Given the description of an element on the screen output the (x, y) to click on. 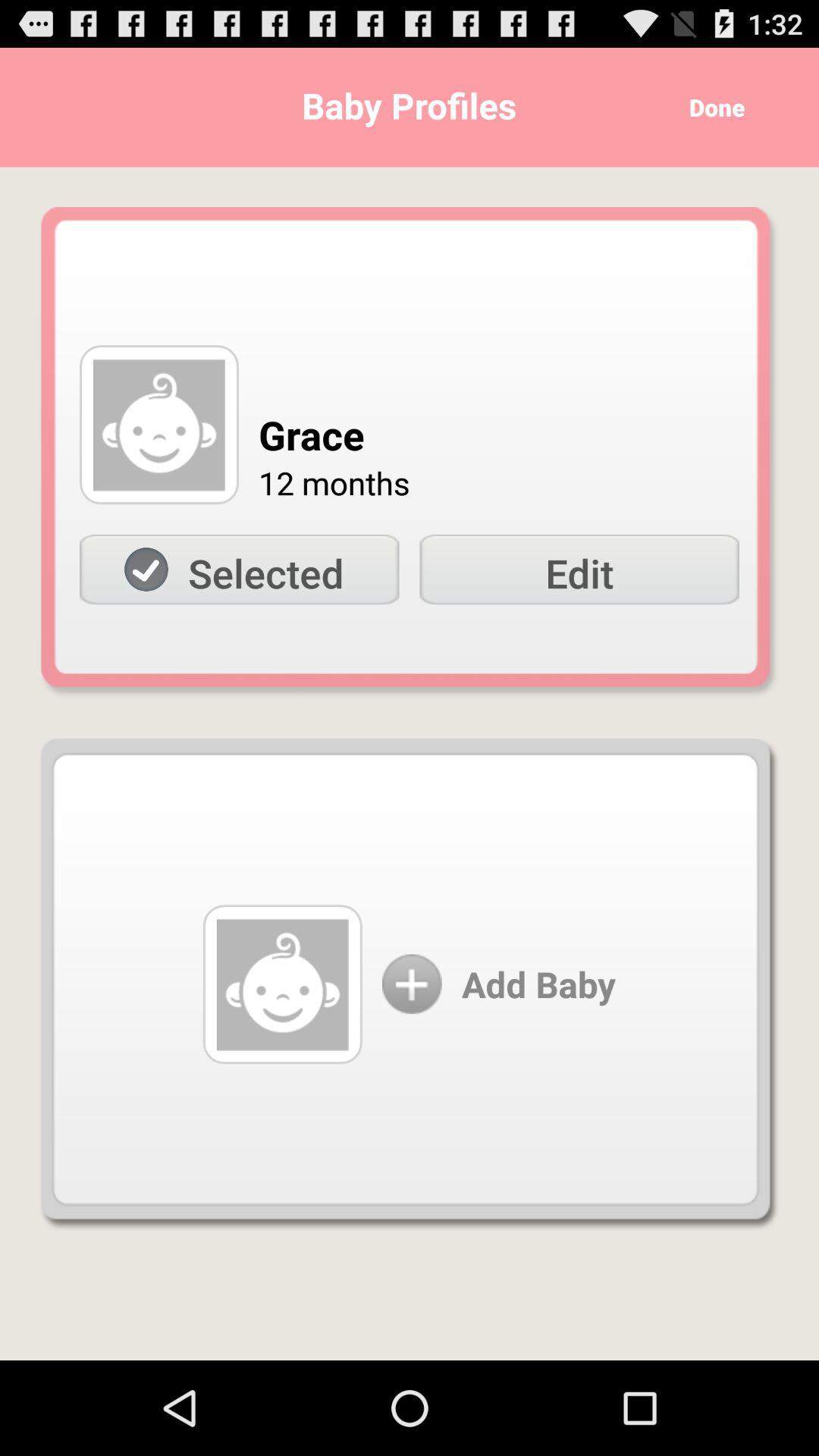
turn on edit on the right (579, 569)
